Given the description of an element on the screen output the (x, y) to click on. 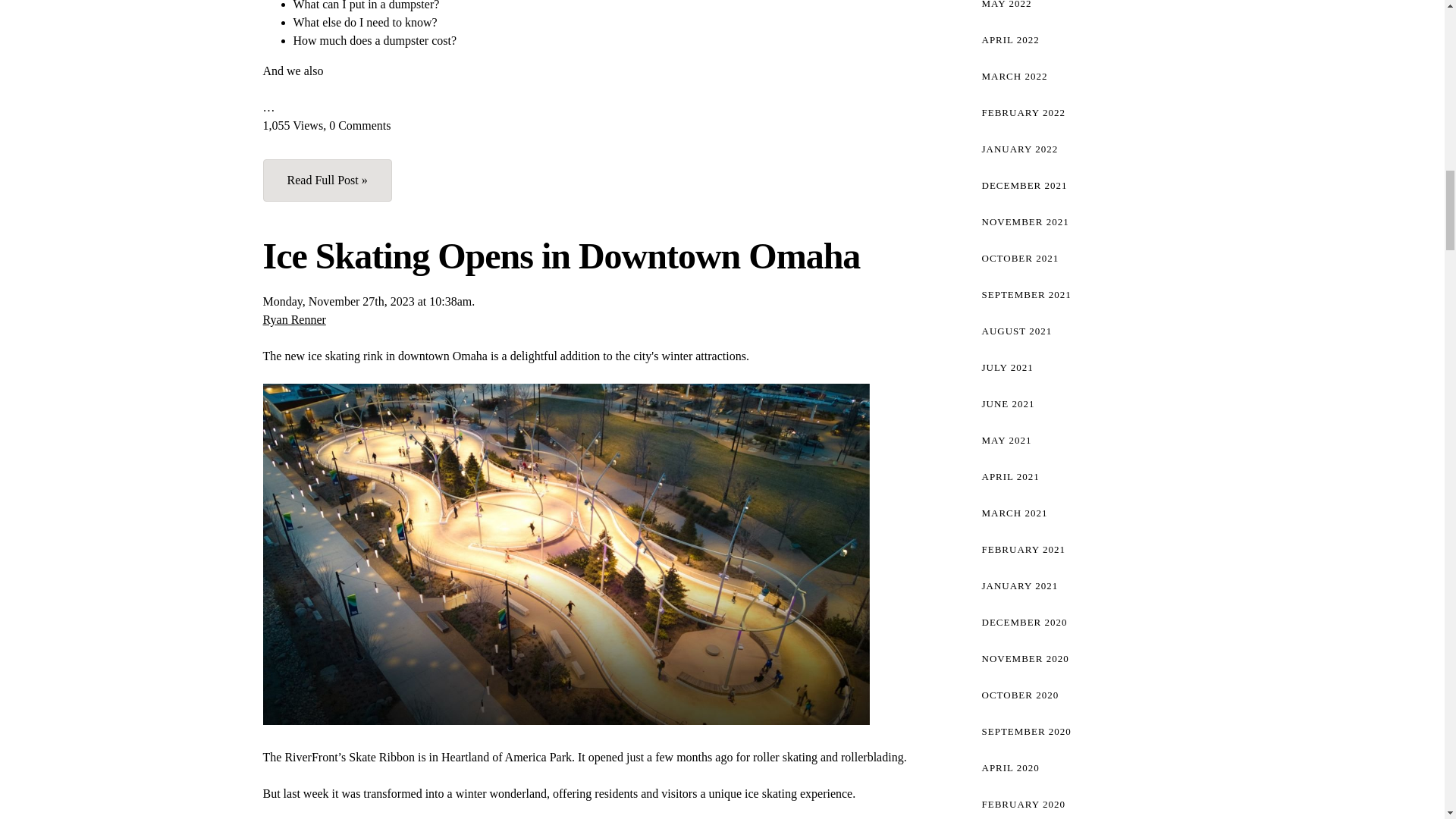
Ryan Renner (293, 318)
Ice Skating Opens in Downtown Omaha (561, 255)
